Given the description of an element on the screen output the (x, y) to click on. 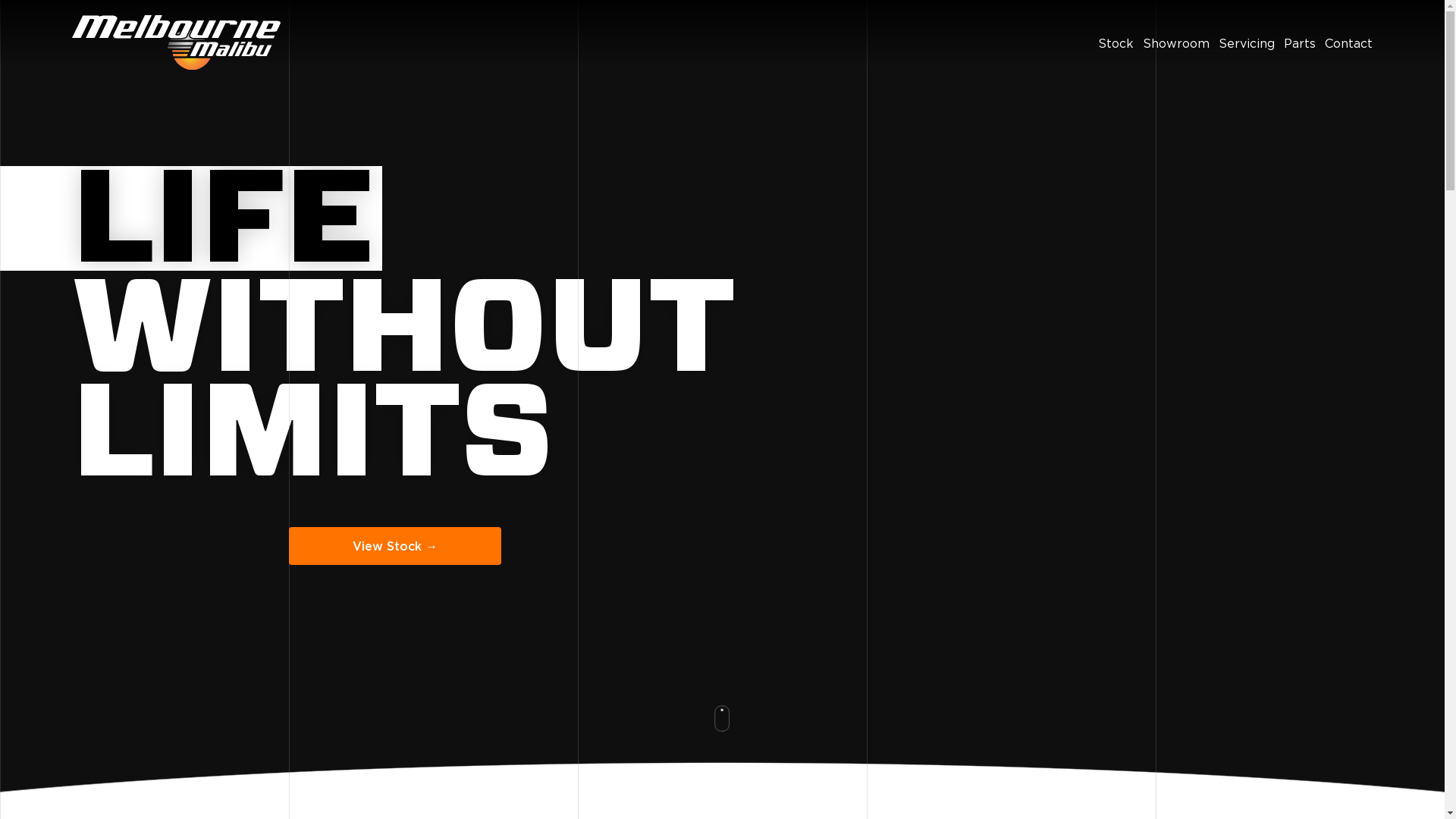
Showroom Element type: text (1175, 43)
Stock Element type: text (1115, 43)
Melbourne Malibu Element type: text (176, 43)
Parts Element type: text (1299, 43)
Contact Element type: text (1348, 43)
Servicing Element type: text (1246, 43)
